Given the description of an element on the screen output the (x, y) to click on. 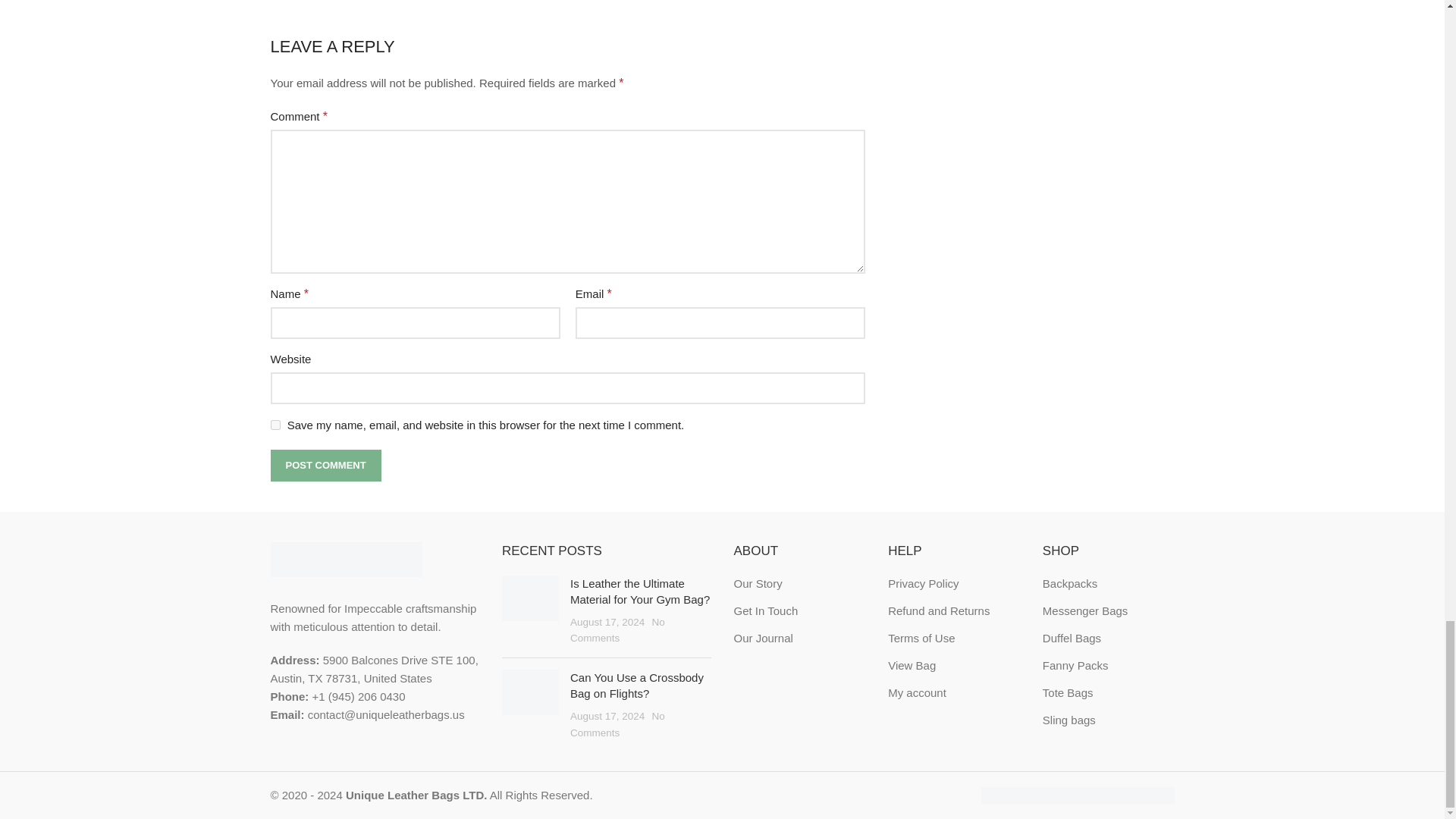
Permalink to Can You Use a Crossbody Bag on Flights? (636, 685)
yes (274, 424)
Post Comment (324, 465)
Post Comment (324, 465)
